Given the description of an element on the screen output the (x, y) to click on. 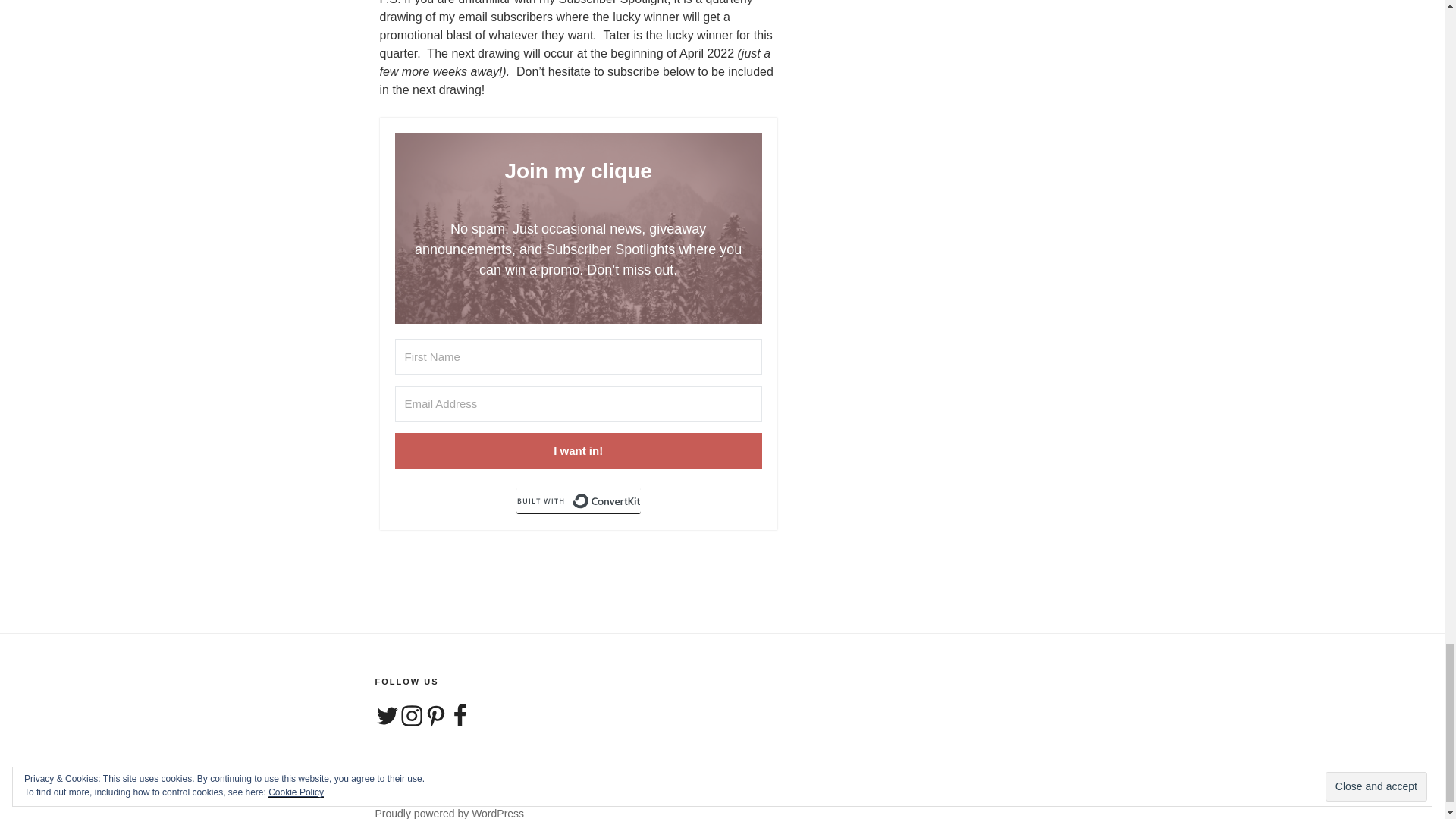
I want in! (577, 450)
Built with ConvertKit (578, 501)
